Given the description of an element on the screen output the (x, y) to click on. 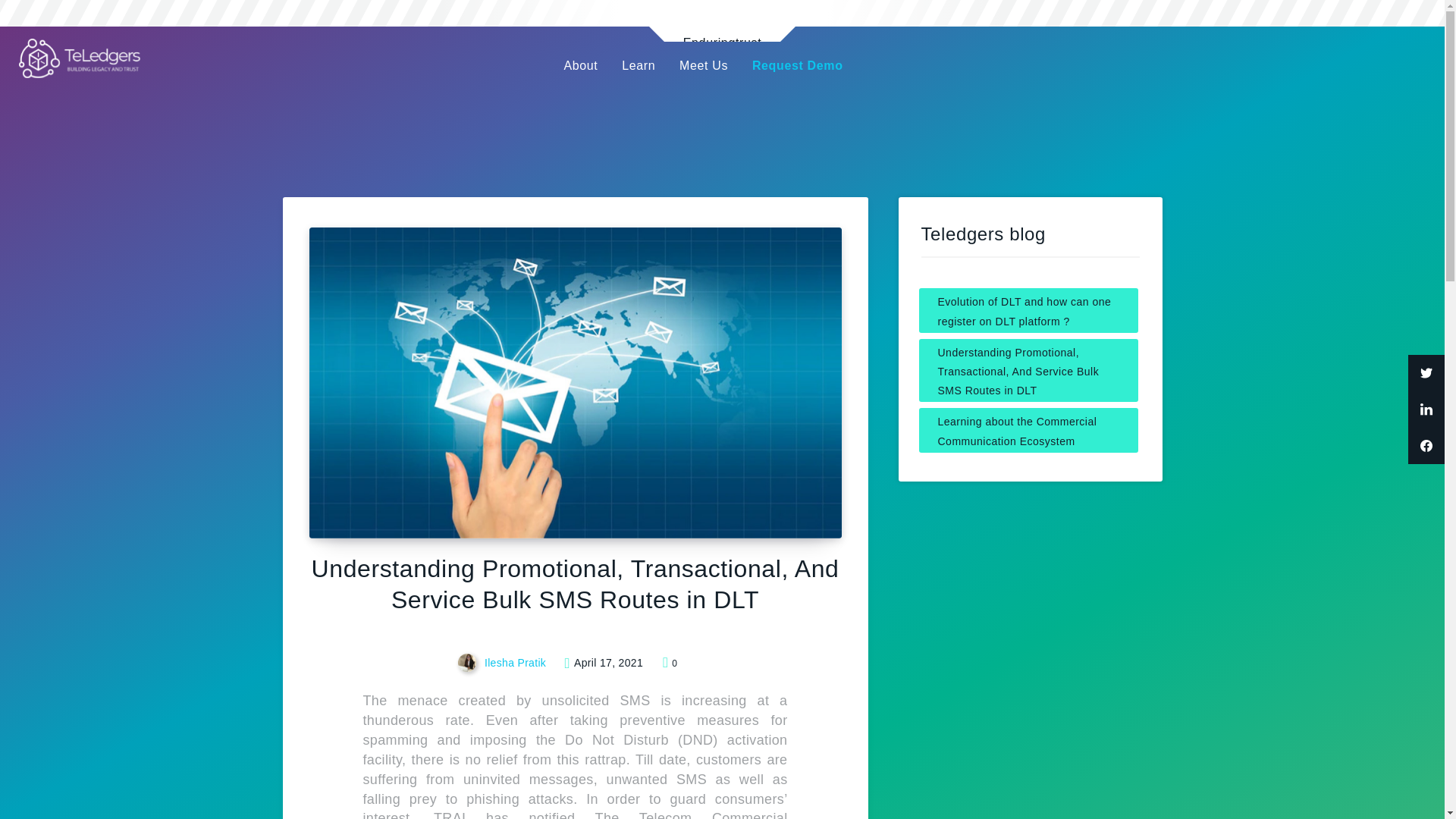
Learn (638, 65)
Go to comments (669, 663)
About (580, 65)
Ilesha Pratik (504, 663)
Learning about the Commercial Communication Ecosystem (1028, 429)
Evolution of DLT and how can one register on DLT platform ? (1028, 310)
Enduringtrust (721, 20)
Request Demo (796, 65)
0 (669, 663)
Meet Us (702, 65)
Learn more (721, 20)
